Given the description of an element on the screen output the (x, y) to click on. 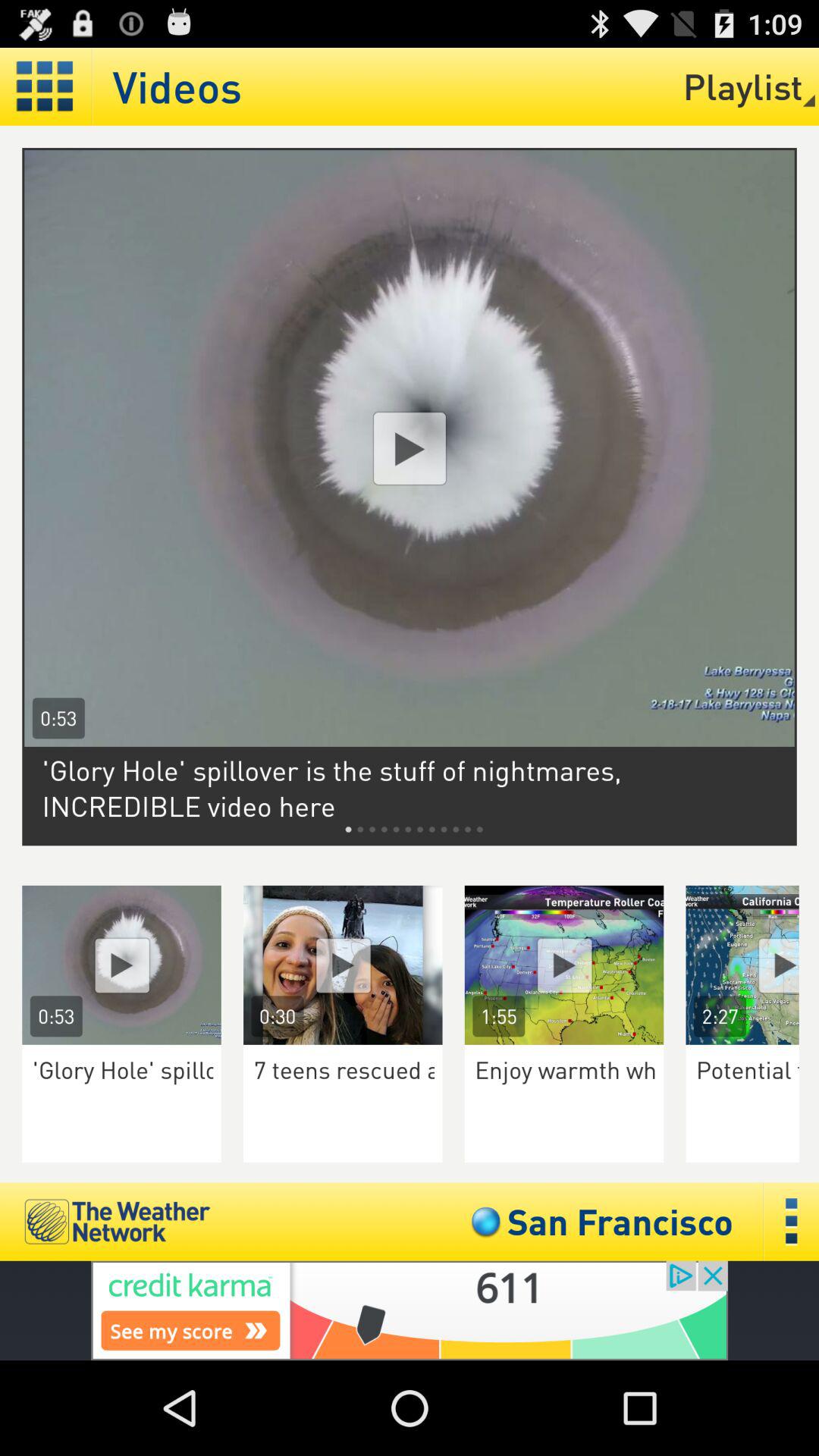
view the advertisement (752, 964)
